Given the description of an element on the screen output the (x, y) to click on. 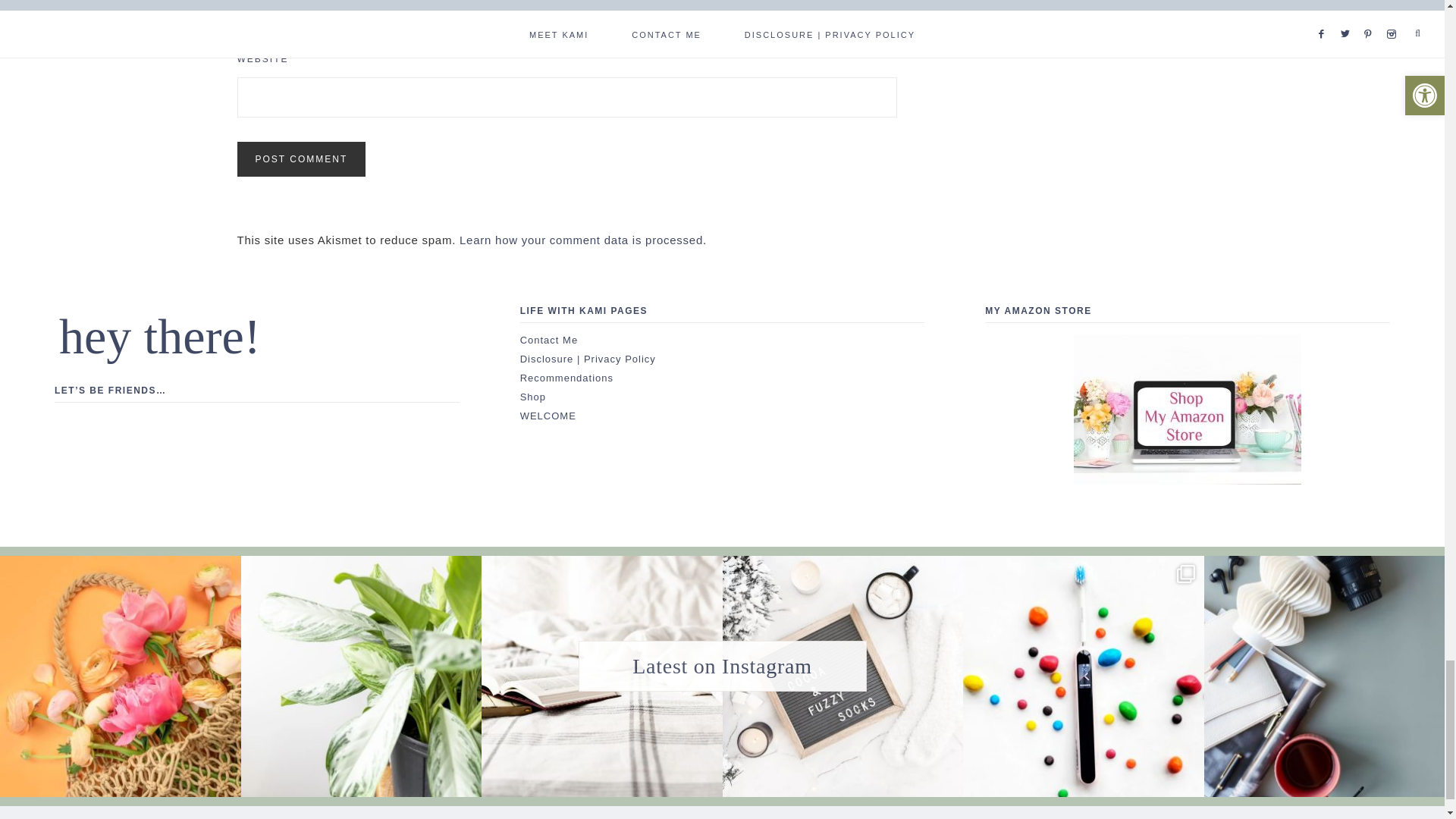
Post Comment (300, 158)
